Given the description of an element on the screen output the (x, y) to click on. 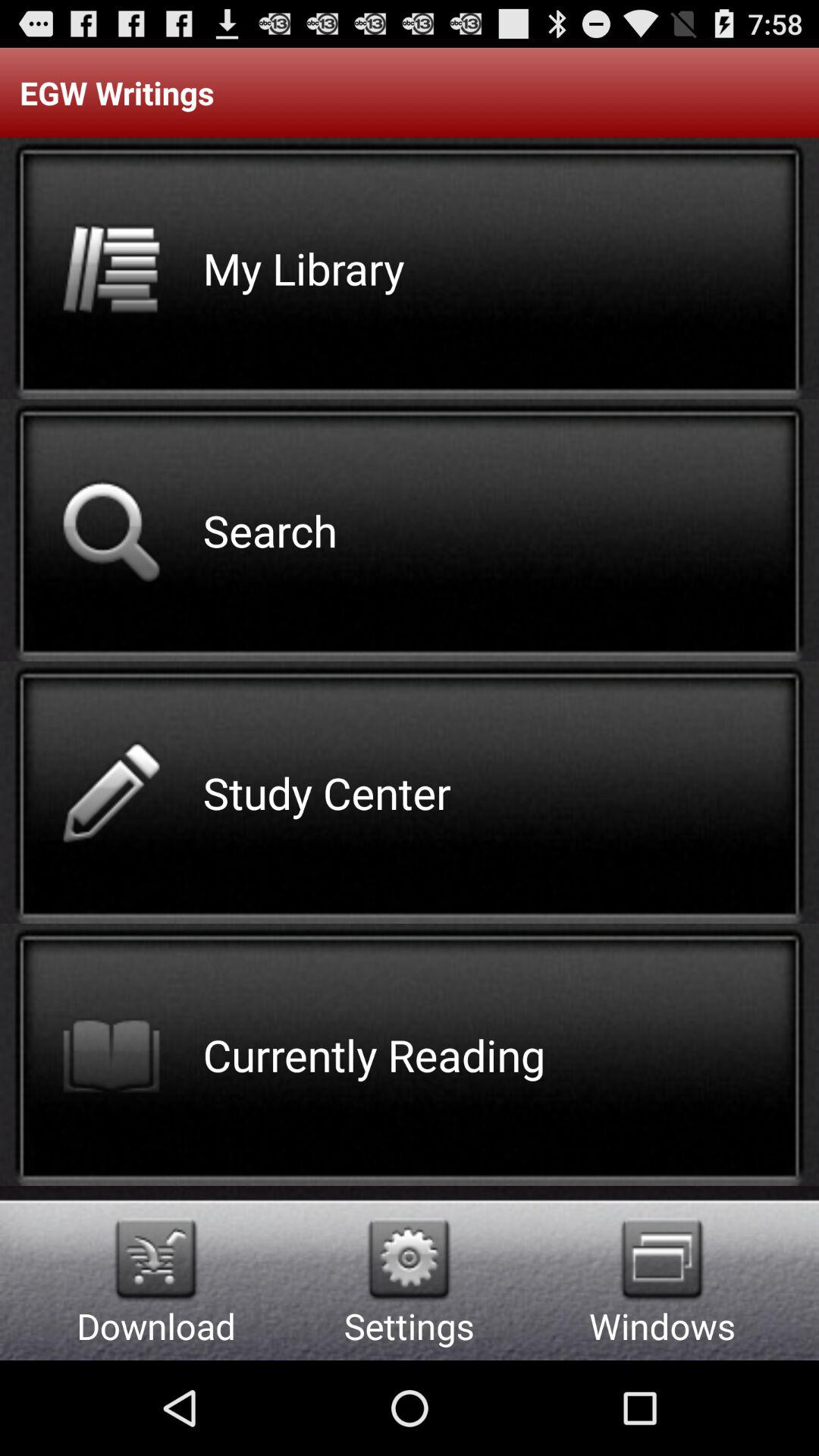
choose item to the right of the settings (662, 1258)
